Given the description of an element on the screen output the (x, y) to click on. 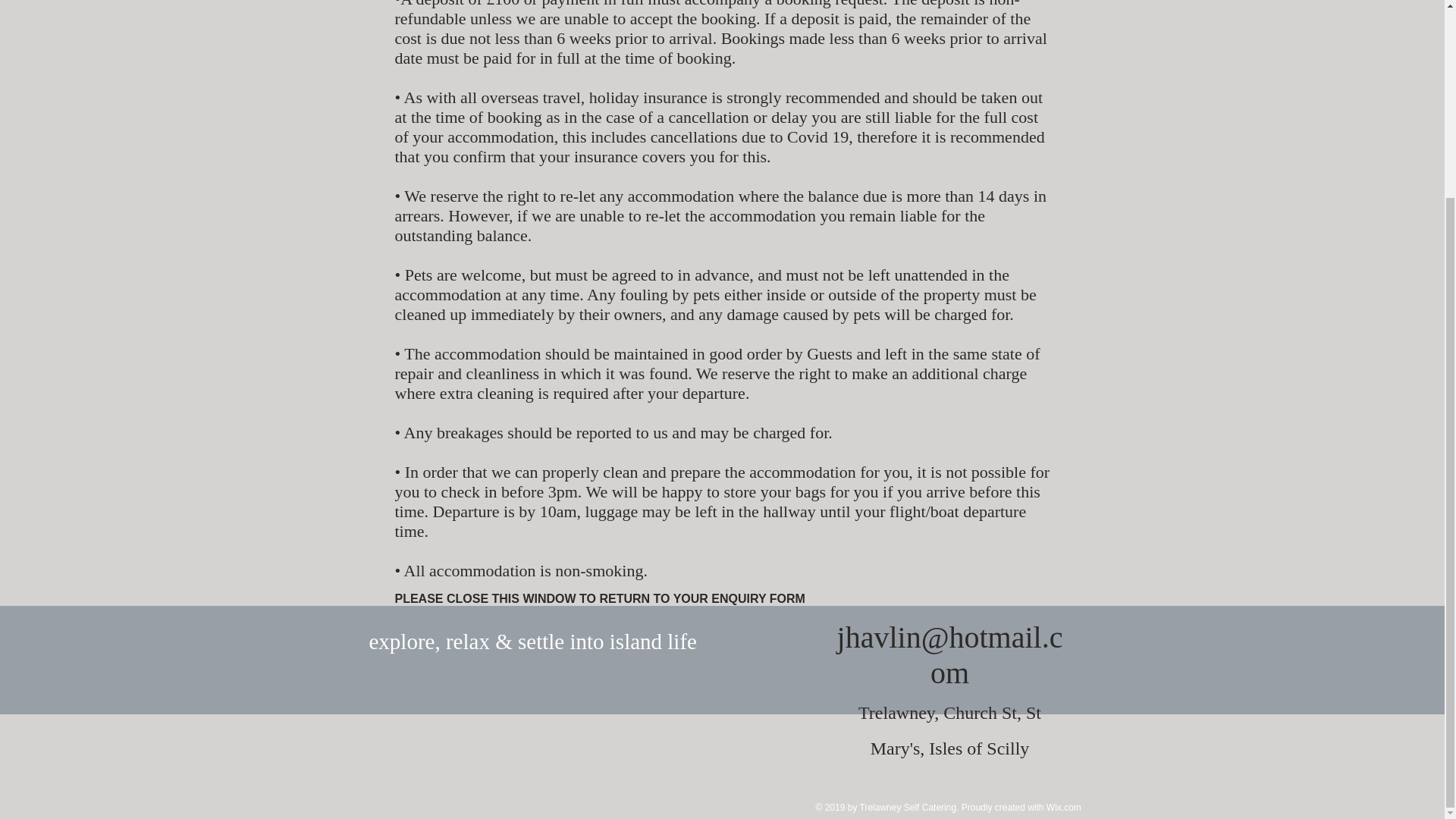
Wix.com (1063, 807)
